Given the description of an element on the screen output the (x, y) to click on. 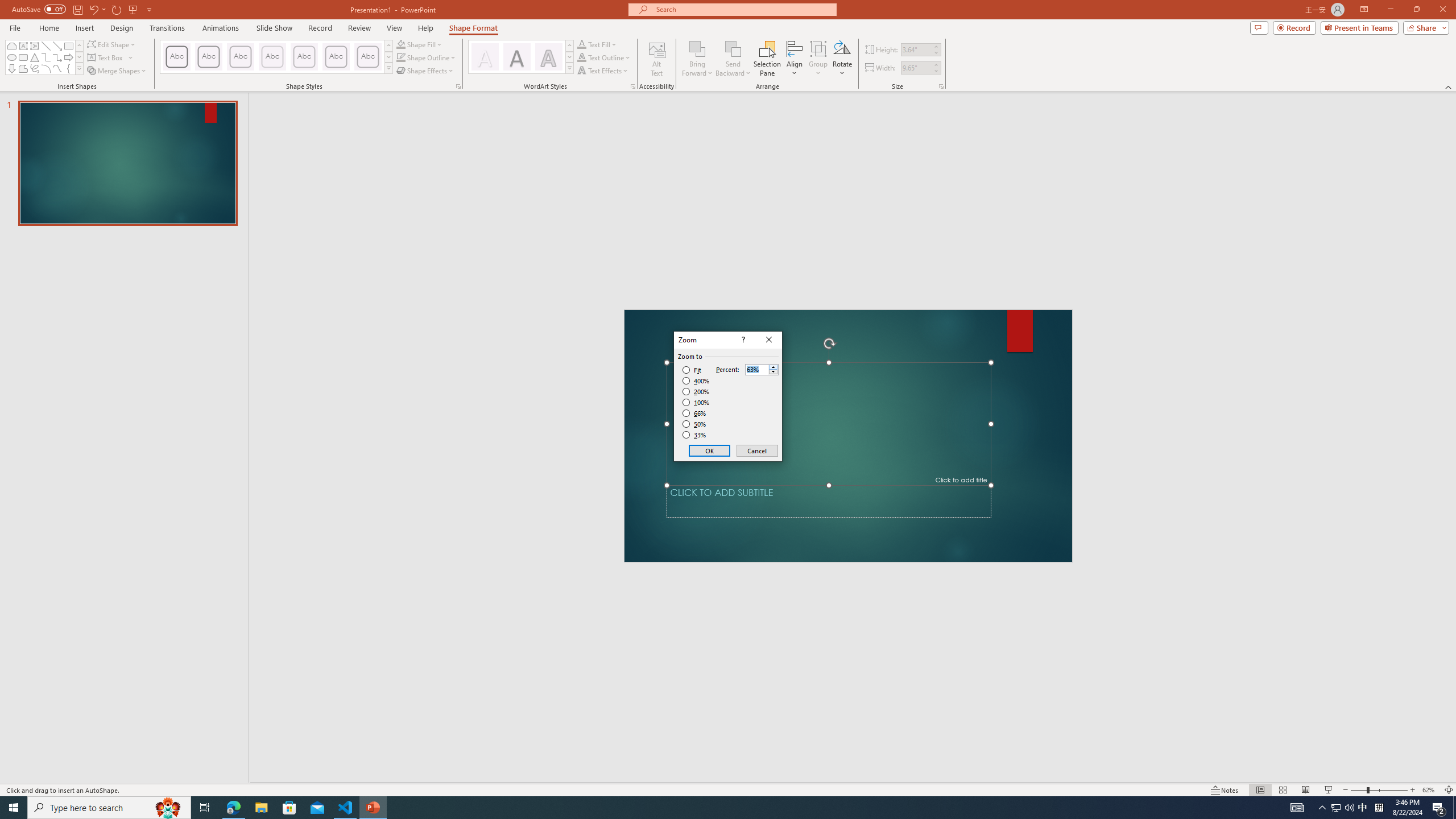
Bring Forward (697, 58)
OK (709, 450)
Send Backward (733, 58)
Shape Effects (425, 69)
AutomationID: TextStylesGallery (521, 56)
Context help (742, 339)
Percent (761, 369)
